Given the description of an element on the screen output the (x, y) to click on. 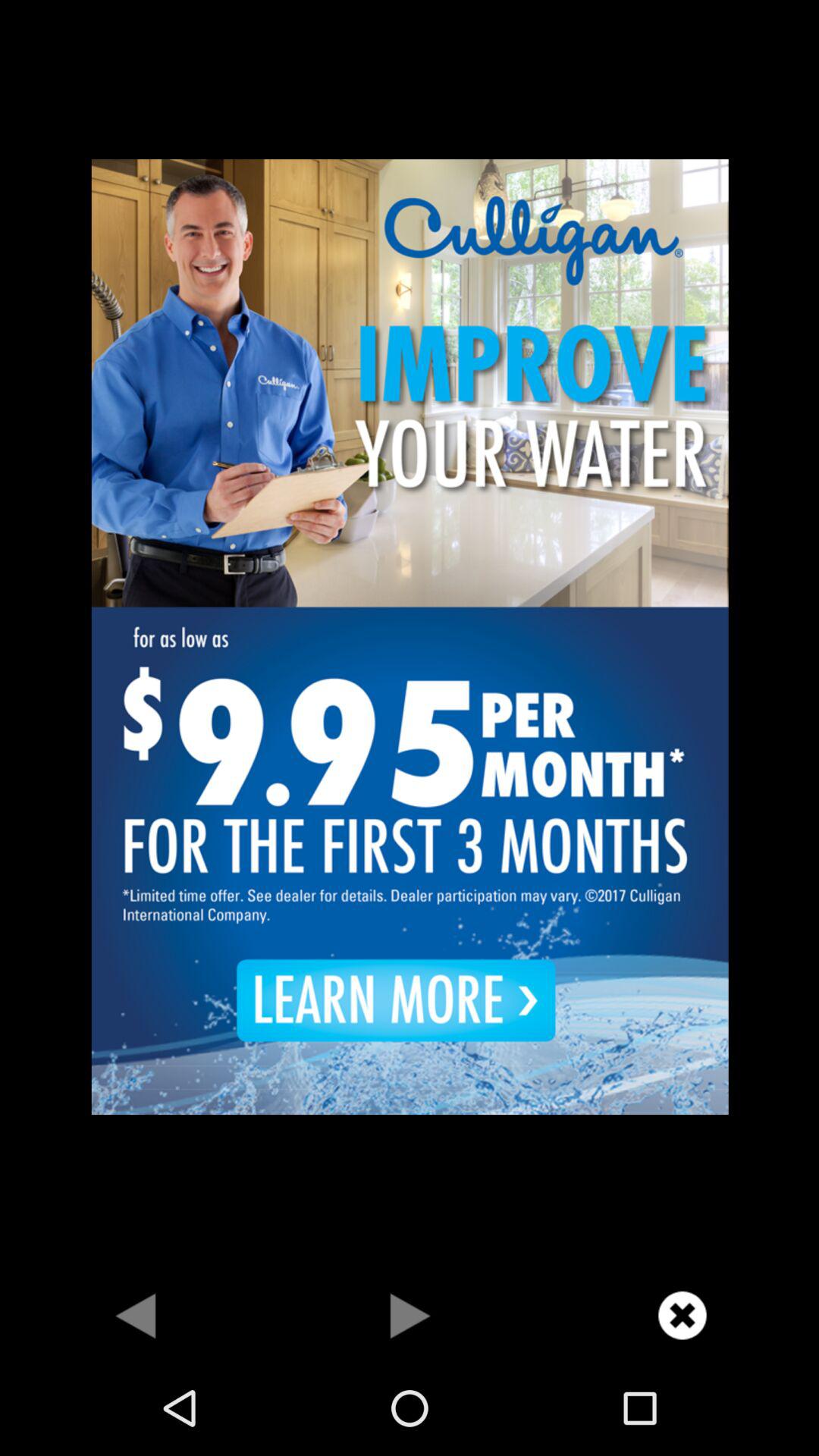
advertisement (409, 635)
